Given the description of an element on the screen output the (x, y) to click on. 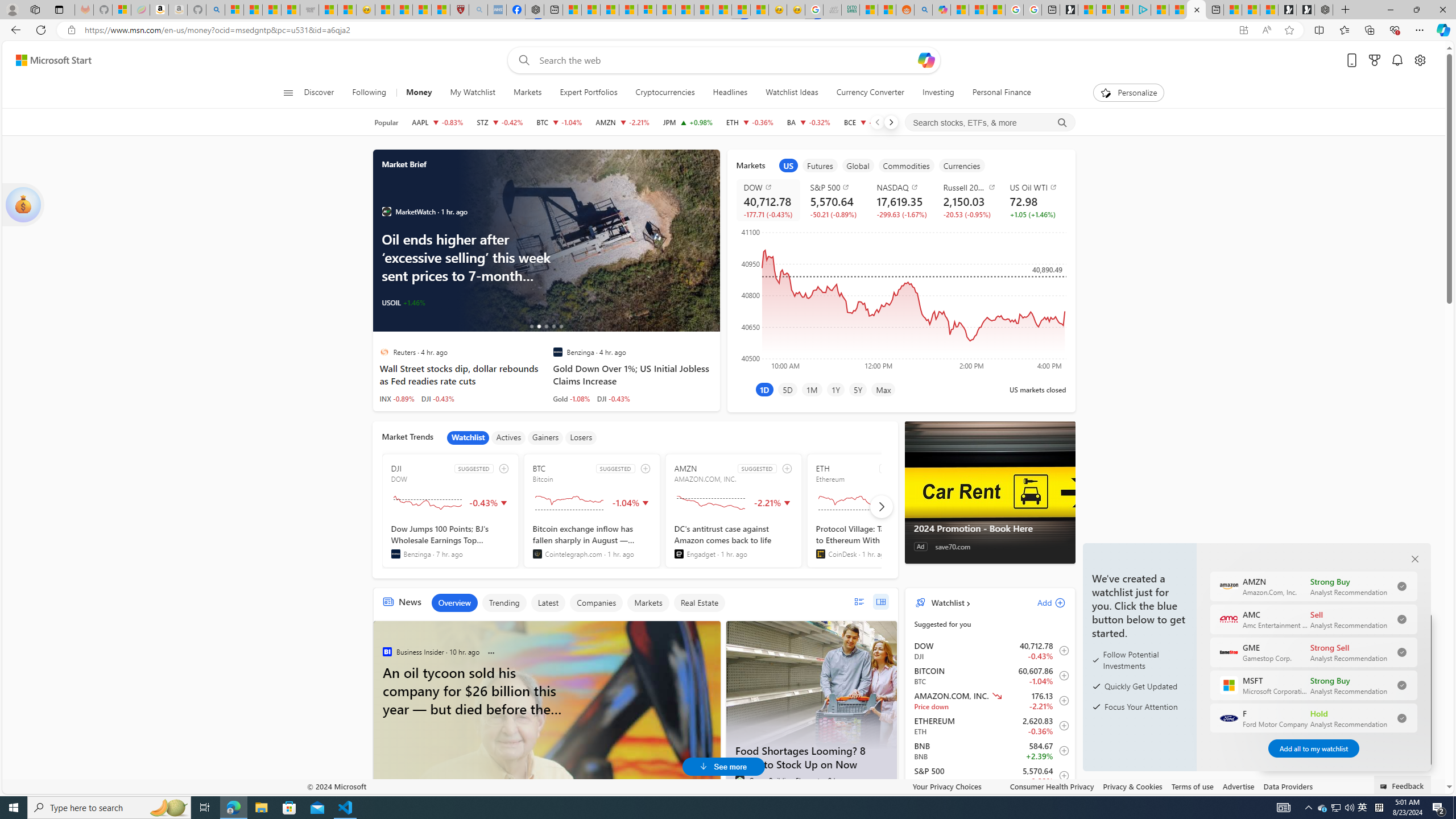
grid layout (880, 601)
NASDAQ (903, 187)
USOIL +1.46% (403, 302)
Expert Portfolios (588, 92)
Play Free Online Games | Games from Microsoft Start (1305, 9)
Companies (596, 602)
1D (764, 389)
Expert Portfolios (588, 92)
5Y (857, 389)
Advertise (1238, 786)
Green Building Elements (739, 779)
